Given the description of an element on the screen output the (x, y) to click on. 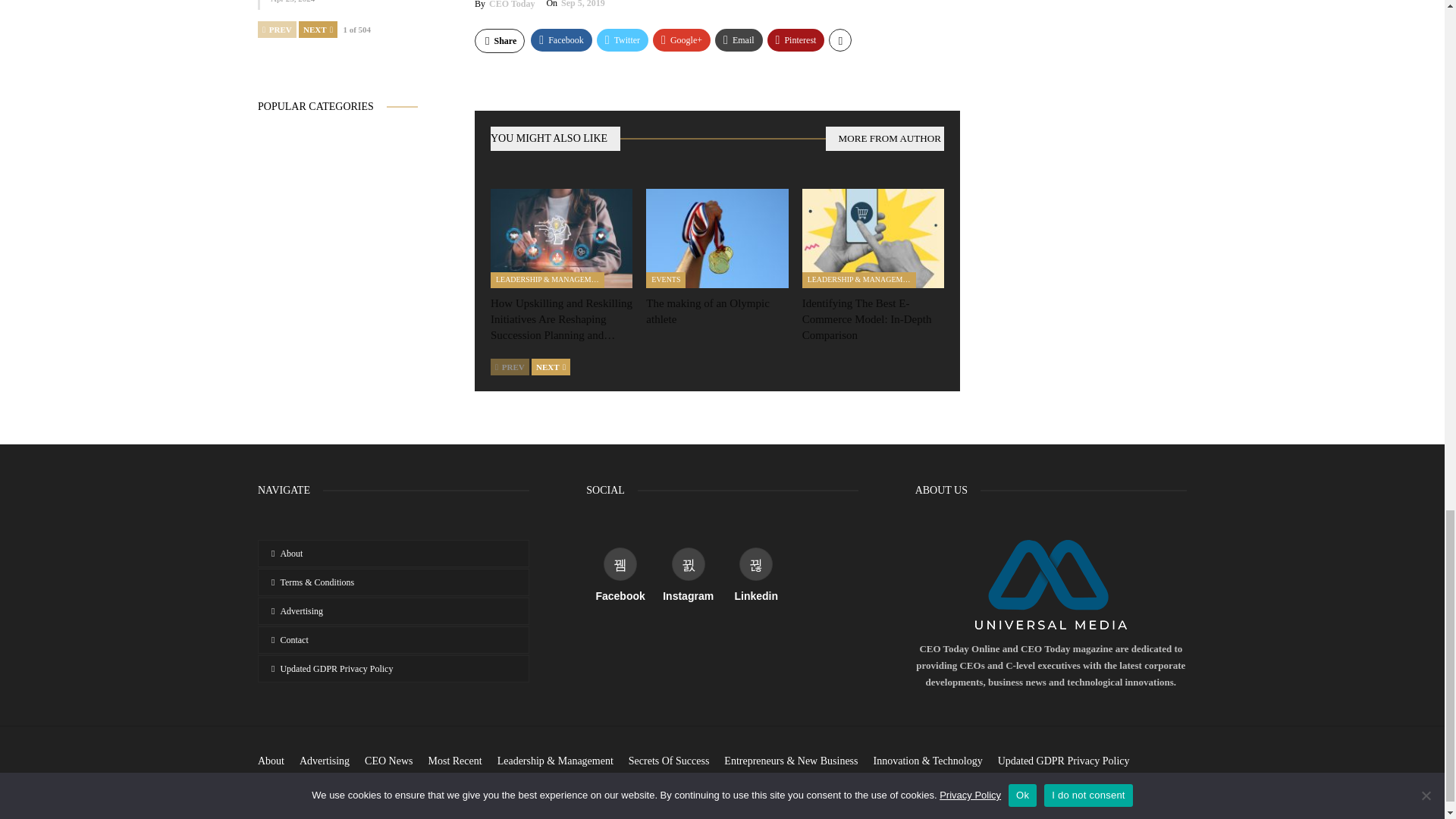
Identifying The Best E-Commerce Model: In-Depth Comparison (872, 238)
The making of an Olympic athlete (707, 311)
Previous (509, 366)
Identifying The Best E-Commerce Model: In-Depth Comparison (866, 319)
Next (550, 366)
The making of an Olympic athlete (716, 238)
